Given the description of an element on the screen output the (x, y) to click on. 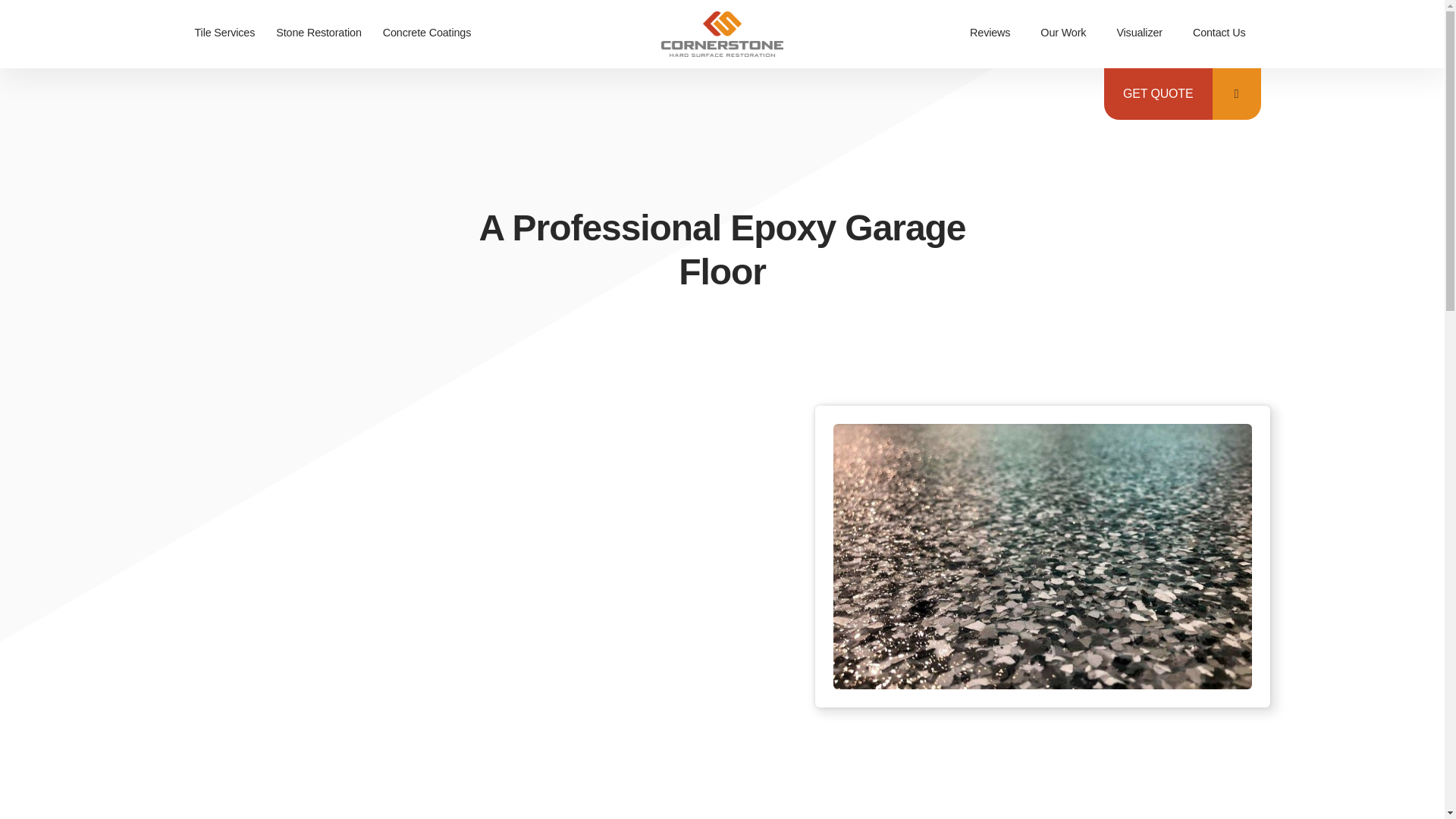
Tile Services (224, 33)
Visualizer (1138, 33)
Reviews (990, 33)
Stone Restoration (317, 33)
GET QUOTE (1157, 93)
Contact Us (1218, 33)
Our Work (1062, 33)
Concrete Coatings (427, 33)
